Given the description of an element on the screen output the (x, y) to click on. 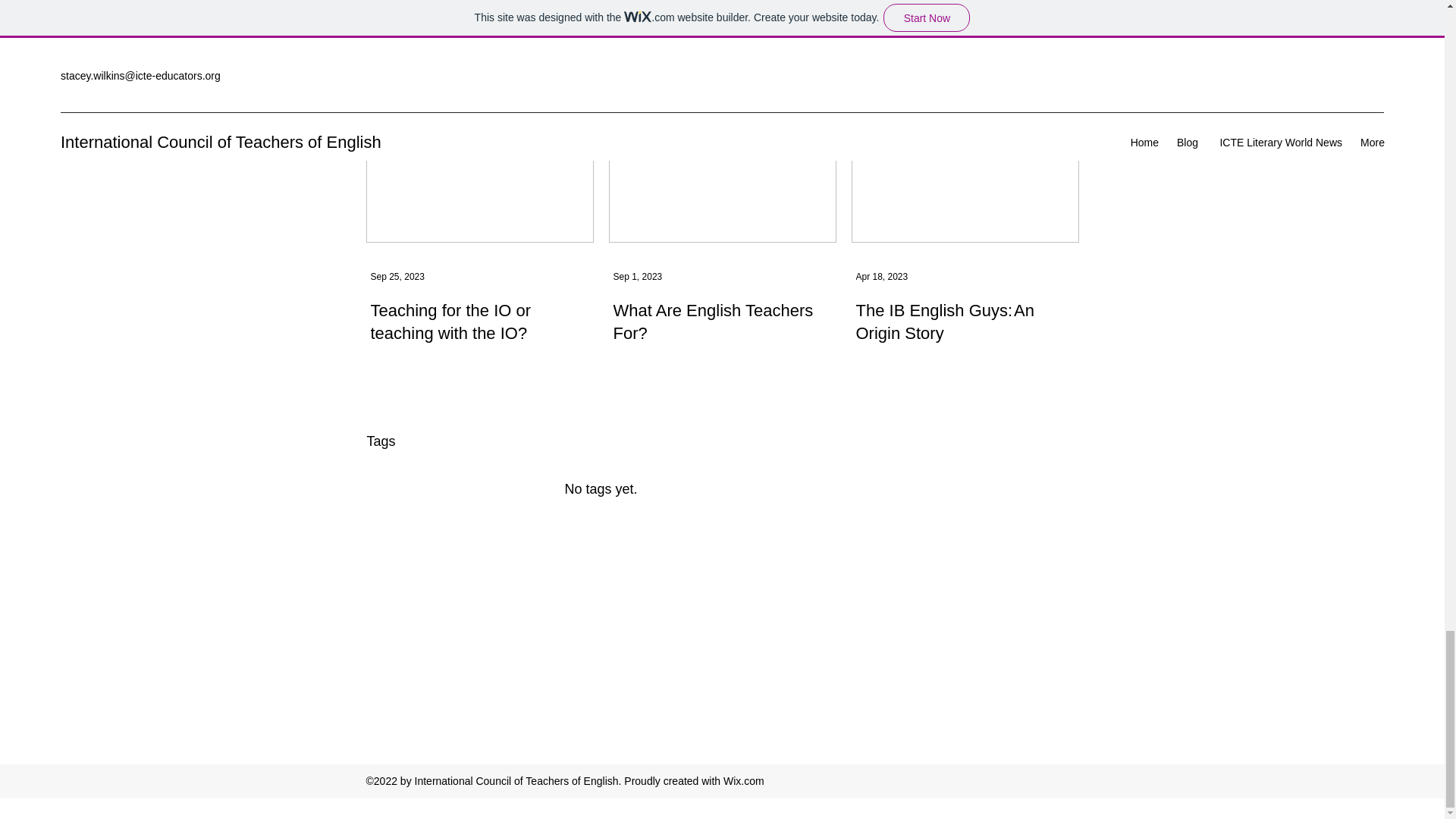
Sep 25, 2023 (396, 276)
Apr 18, 2023 (881, 276)
Teaching for the IO or teaching with the IO? (478, 322)
Sep 1, 2023 (637, 276)
What Are English Teachers For? (721, 322)
